Given the description of an element on the screen output the (x, y) to click on. 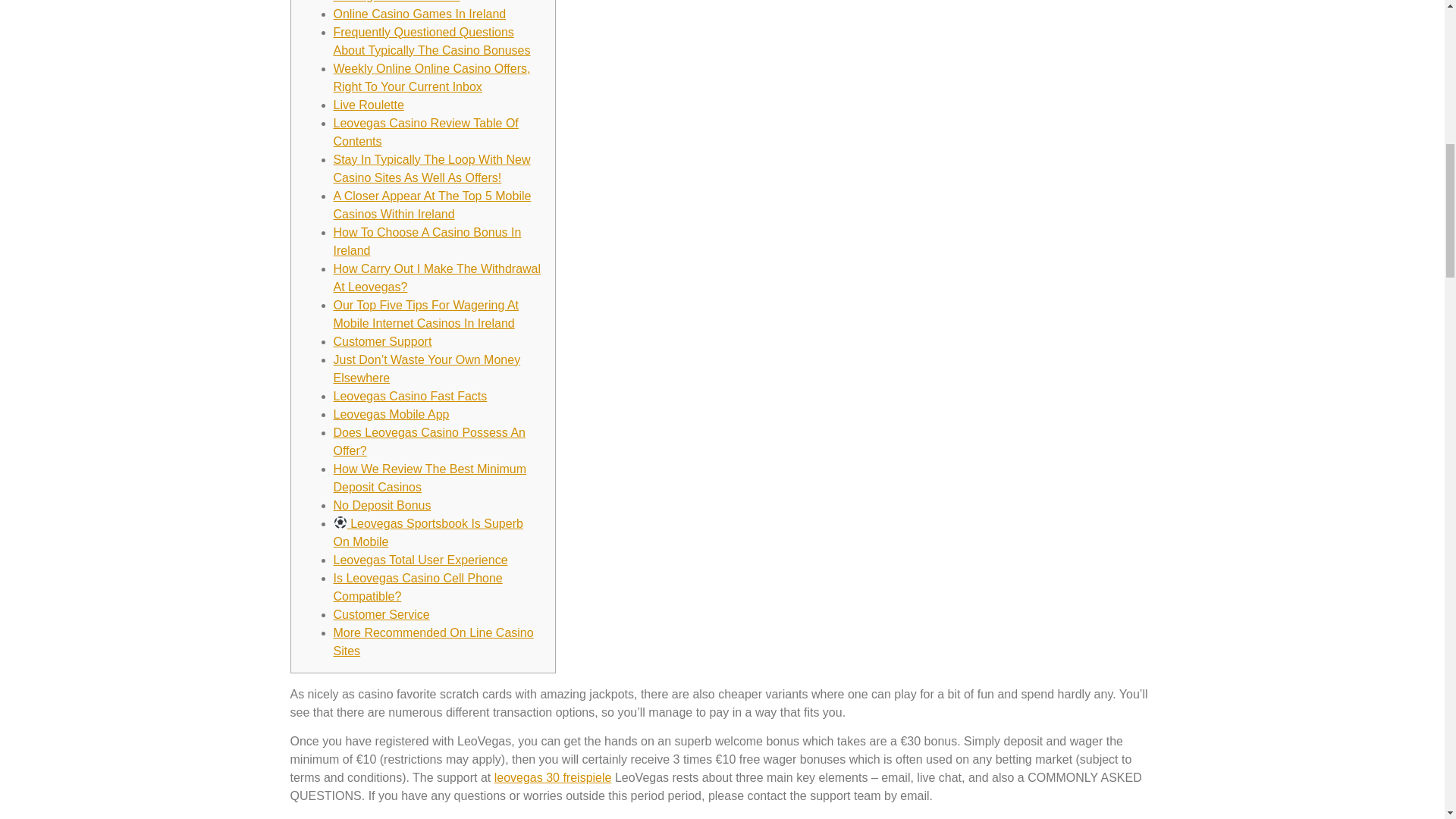
Leovegas Bonus Offers (396, 1)
Customer Service (381, 614)
Leovegas Casino Review Table Of Contents (425, 132)
Leovegas Casino Fast Facts (410, 395)
How Carry Out I Make The Withdrawal At Leovegas? (437, 277)
Does Leovegas Casino Possess An Offer? (429, 441)
More Recommended On Line Casino Sites (433, 641)
Leovegas Mobile App (391, 413)
How To Choose A Casino Bonus In Ireland (427, 241)
How We Review The Best Minimum Deposit Casinos (430, 477)
Leovegas Total User Experience (420, 559)
Live Roulette (368, 104)
Leovegas Sportsbook Is Superb On Mobile (427, 531)
